Given the description of an element on the screen output the (x, y) to click on. 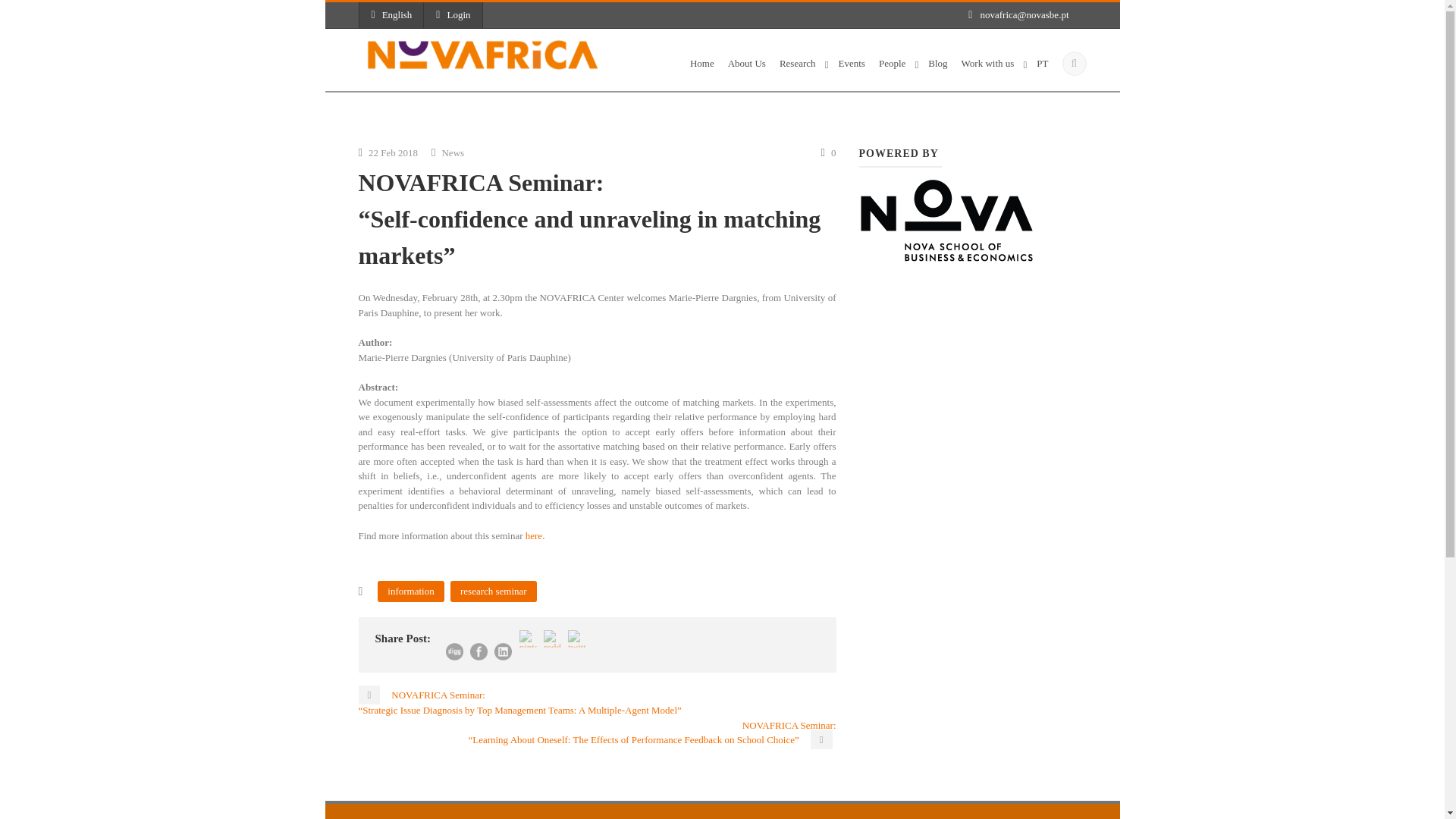
Login (452, 14)
People (896, 69)
Research (802, 69)
Work with us (992, 69)
English (390, 14)
About Us (746, 69)
